Given the description of an element on the screen output the (x, y) to click on. 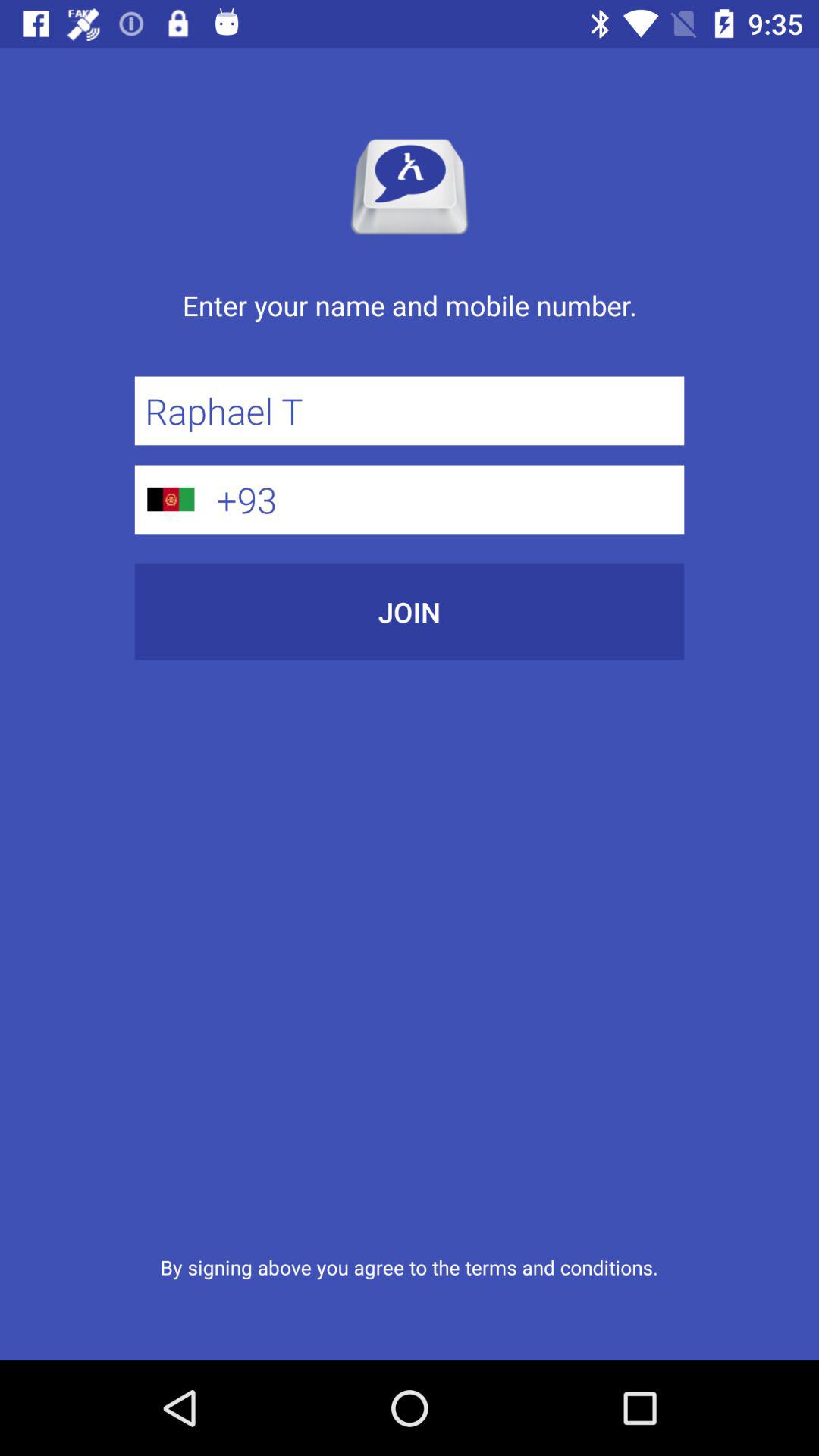
open icon above the by signing above icon (409, 611)
